Given the description of an element on the screen output the (x, y) to click on. 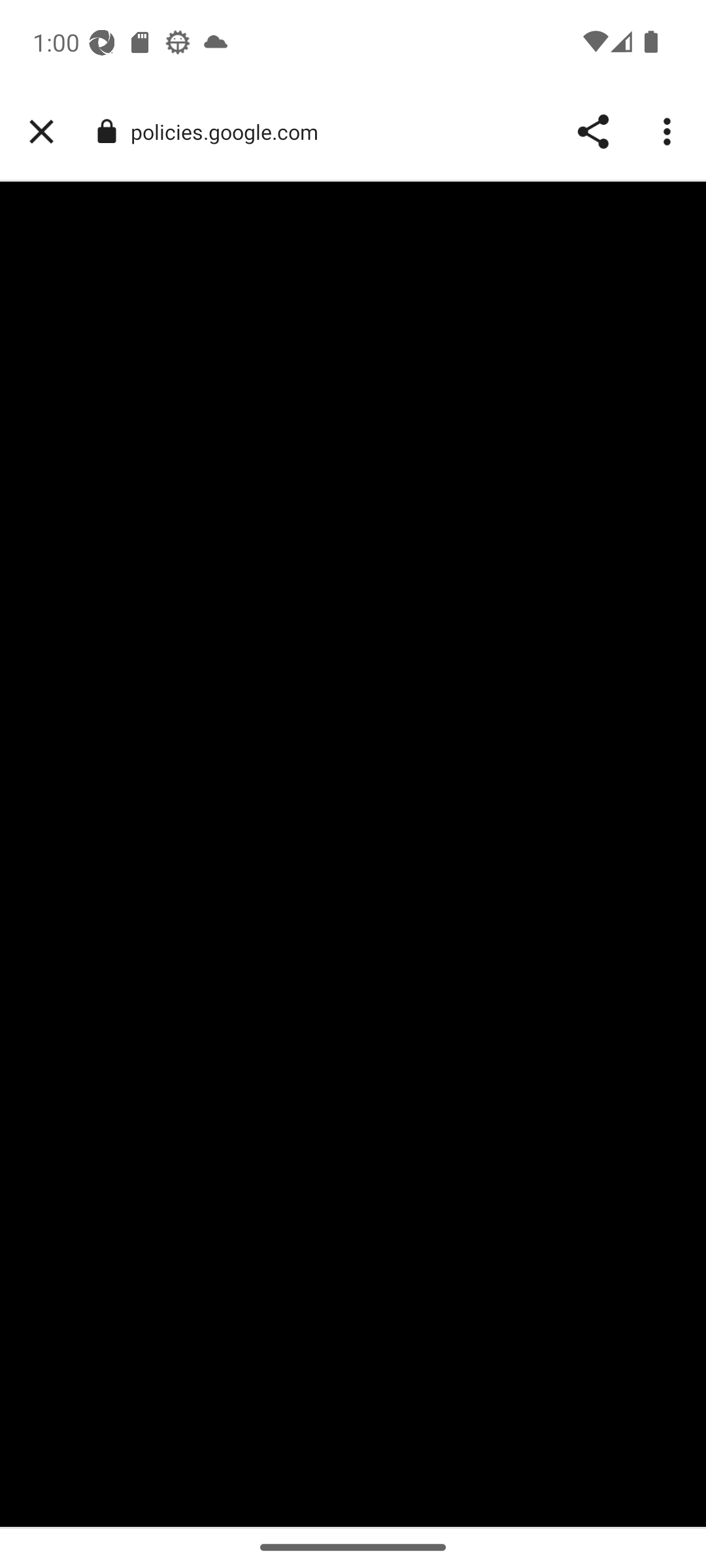
Close tab (41, 131)
Share (592, 131)
More options (669, 131)
Connection is secure (106, 131)
policies.google.com (230, 131)
